Given the description of an element on the screen output the (x, y) to click on. 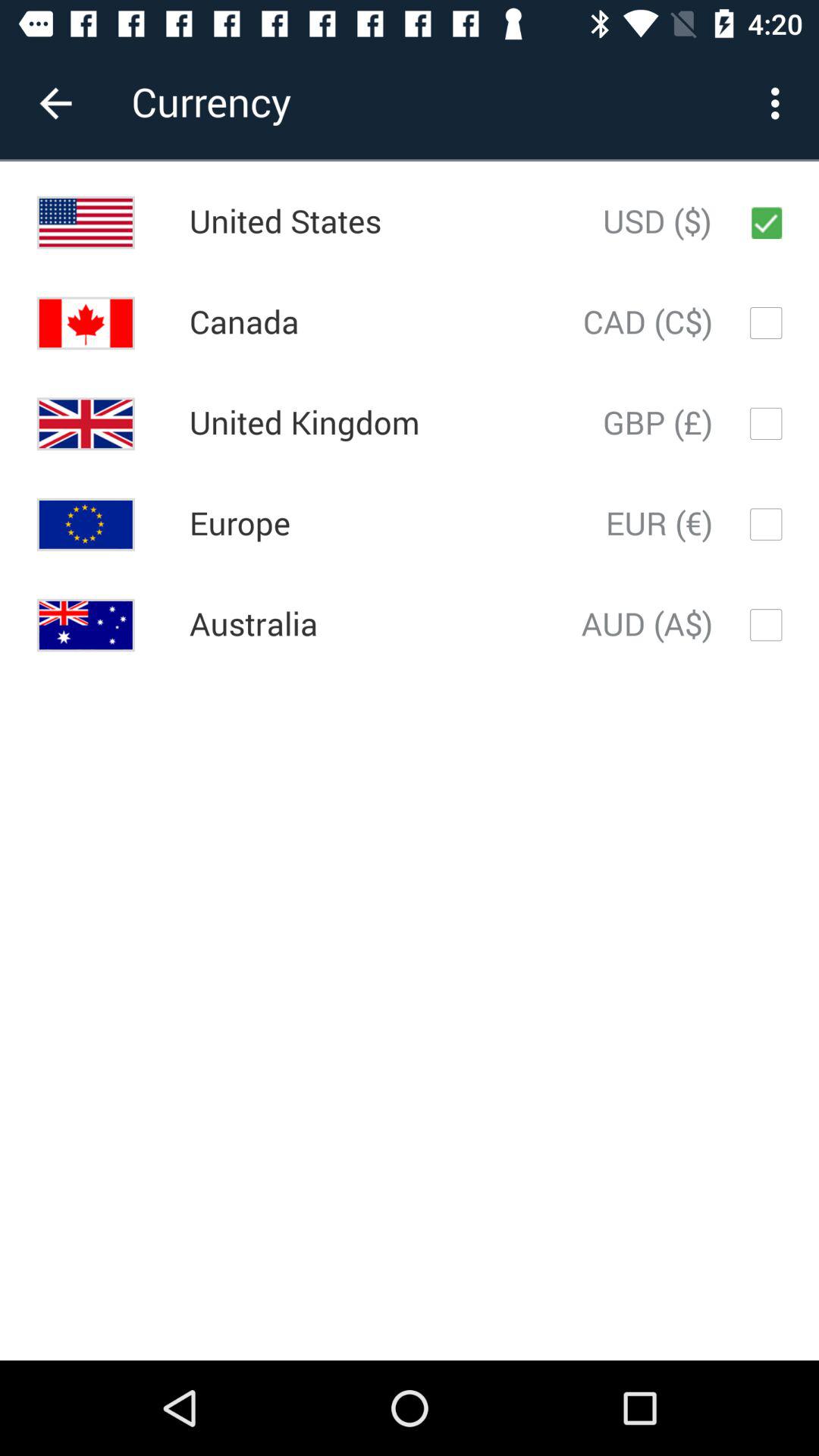
click the item next to canada (647, 322)
